Given the description of an element on the screen output the (x, y) to click on. 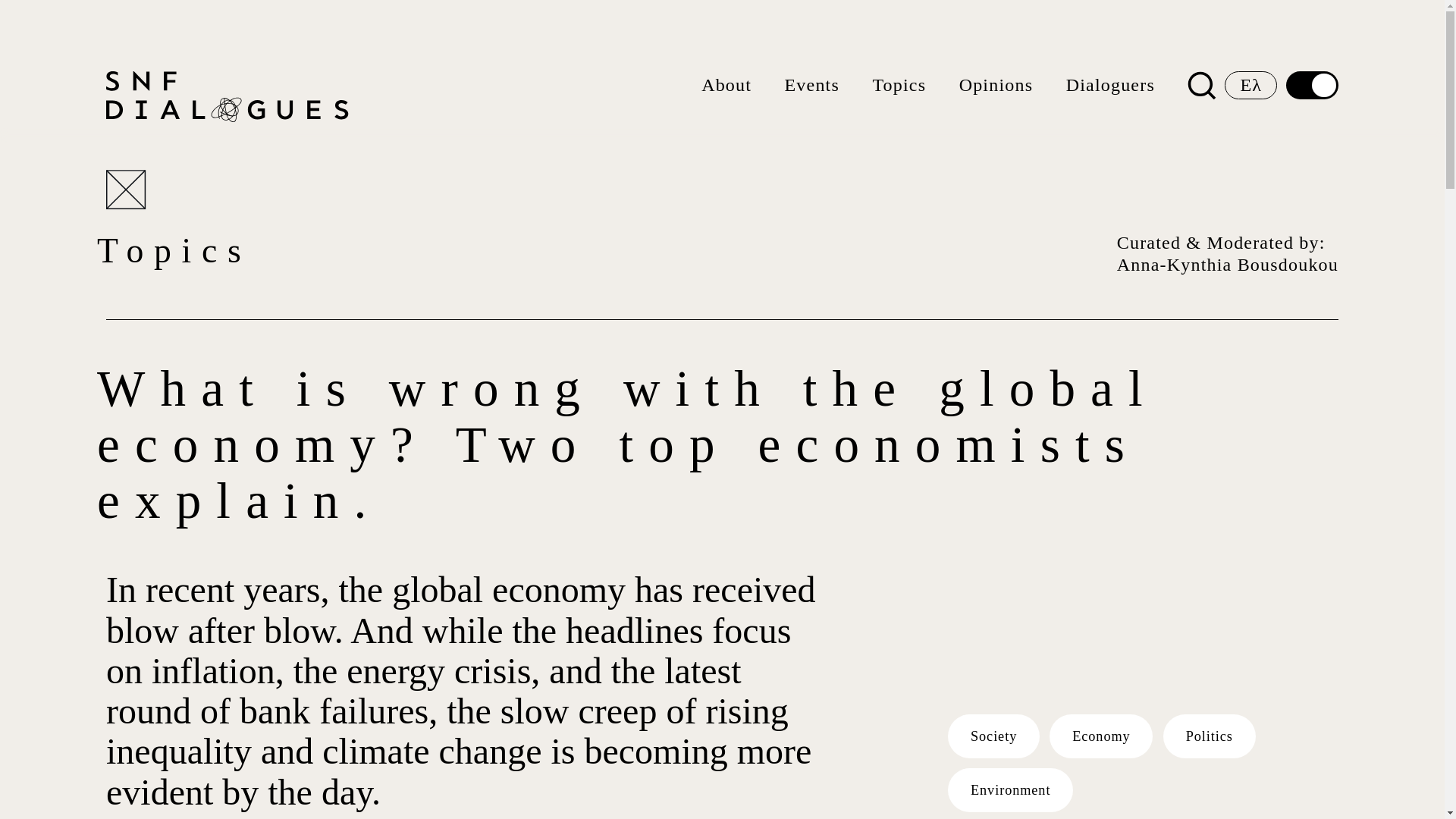
Economy (1100, 736)
Opinions (996, 85)
About (726, 85)
Events (812, 85)
Politics (1209, 736)
Topics (899, 85)
Dialoguers (1109, 85)
Environment (1010, 790)
Society (993, 736)
